Given the description of an element on the screen output the (x, y) to click on. 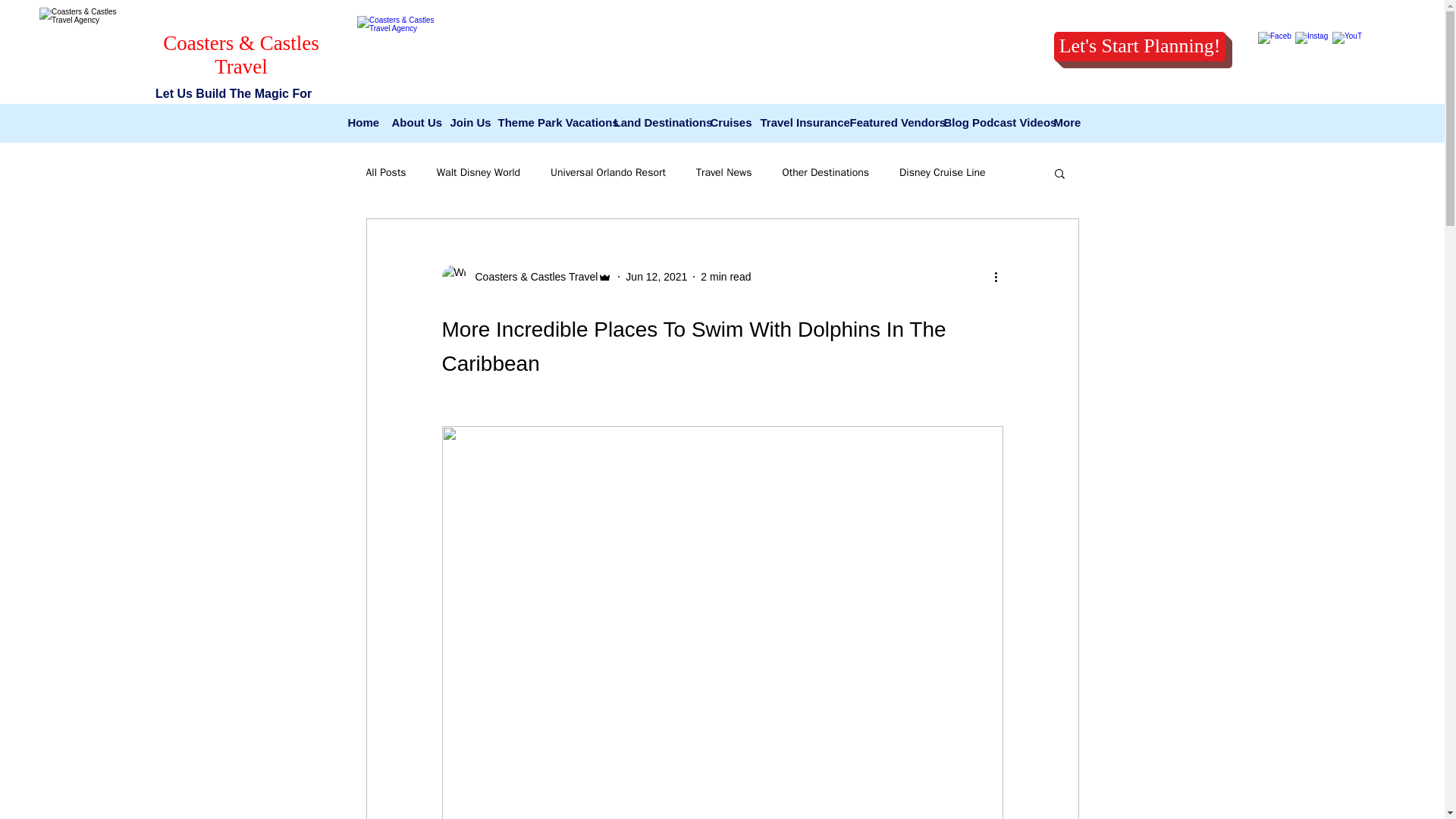
Let's Start Planning! (1139, 46)
Travel Insurance (796, 122)
About Us (413, 122)
Blog Podcast Videos (990, 122)
Theme Park Vacations (547, 122)
2 min read (725, 275)
Jun 12, 2021 (656, 275)
Home (361, 122)
Land Destinations (655, 122)
Cruises (726, 122)
